Given the description of an element on the screen output the (x, y) to click on. 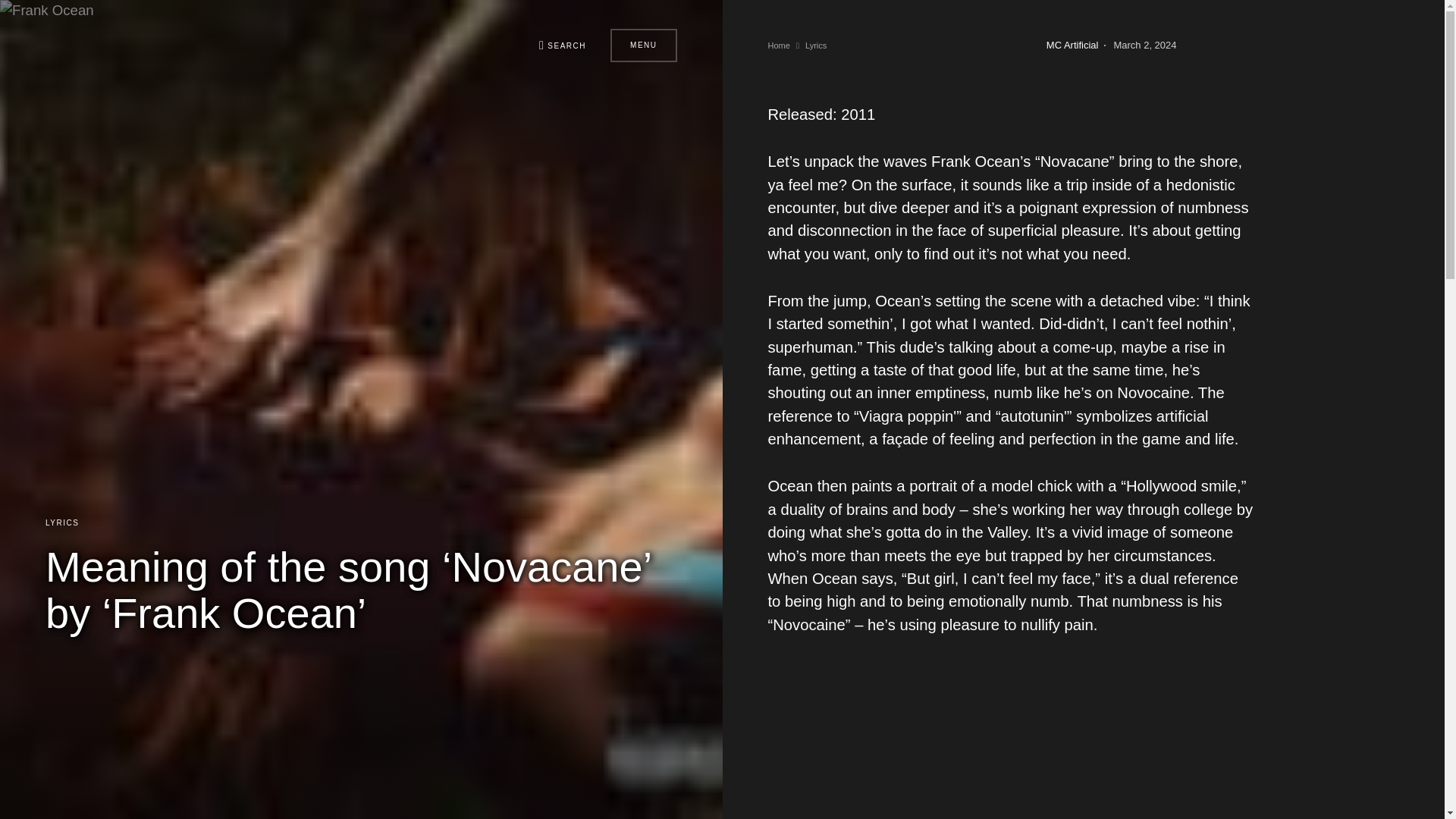
Lyrics (816, 44)
Home (778, 44)
MC Artificial (1072, 45)
LYRICS (61, 522)
View all posts by MC Artificial (1072, 45)
